Given the description of an element on the screen output the (x, y) to click on. 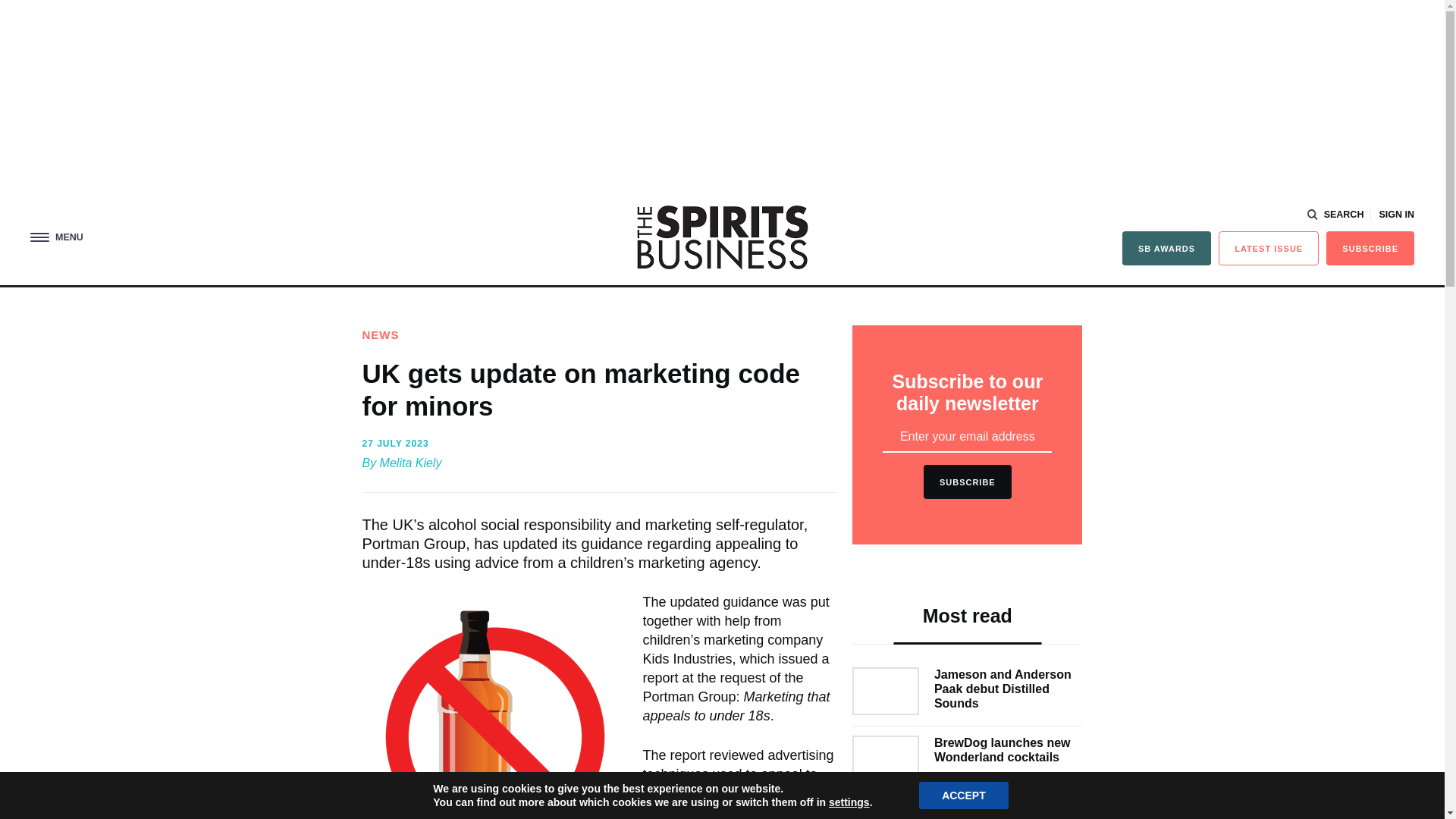
SEARCH (1335, 214)
MENU (56, 237)
SIGN IN (1395, 214)
SUBSCRIBE (1369, 247)
The Spirits Business (722, 237)
LATEST ISSUE (1268, 247)
SB AWARDS (1166, 247)
